Given the description of an element on the screen output the (x, y) to click on. 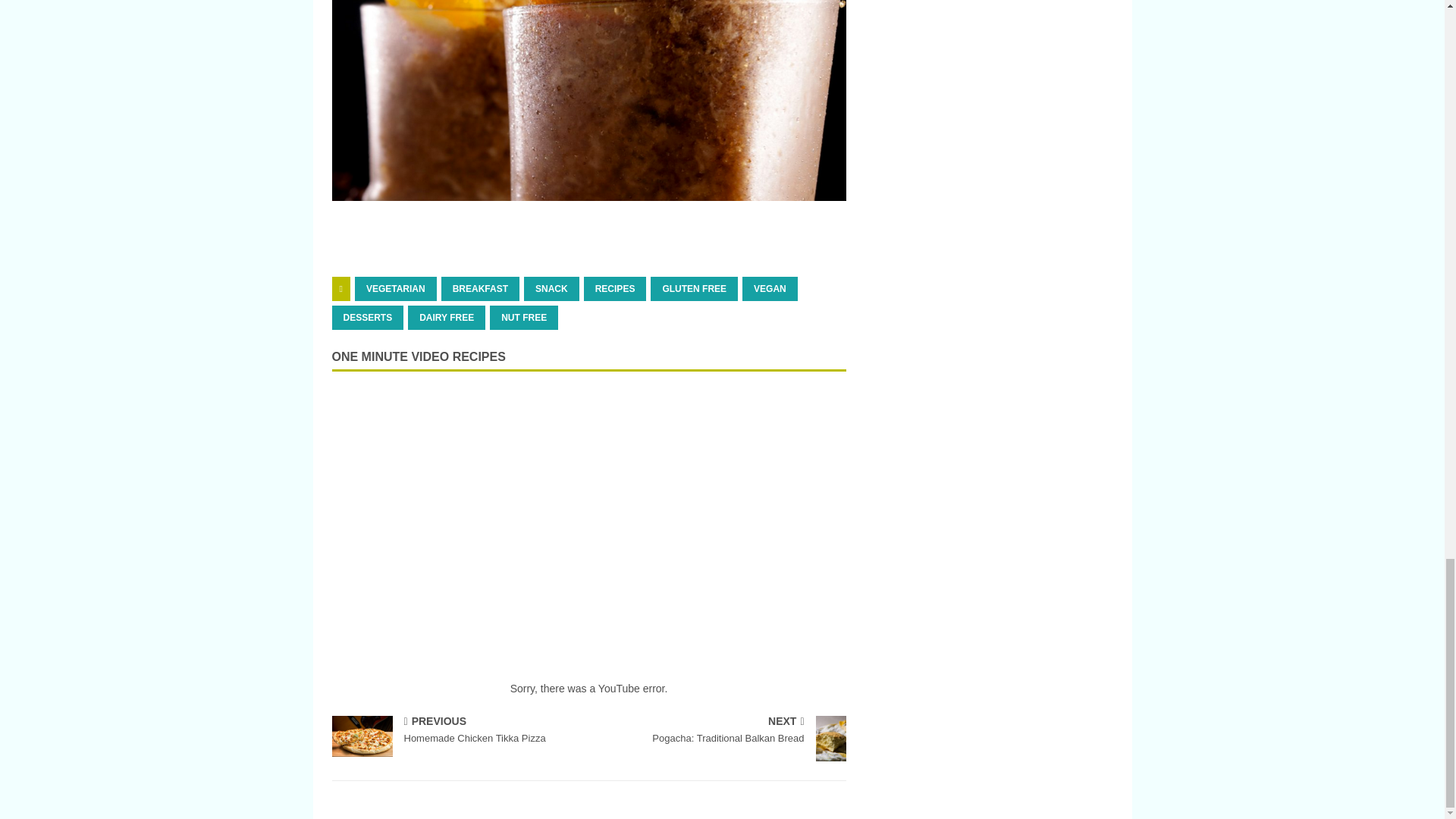
GLUTEN FREE (694, 288)
RECIPES (614, 288)
SNACK (551, 288)
BREAKFAST (480, 288)
VEGETARIAN (395, 288)
NUT FREE (523, 317)
DAIRY FREE (445, 317)
DESSERTS (367, 317)
VEGAN (769, 288)
